Given the description of an element on the screen output the (x, y) to click on. 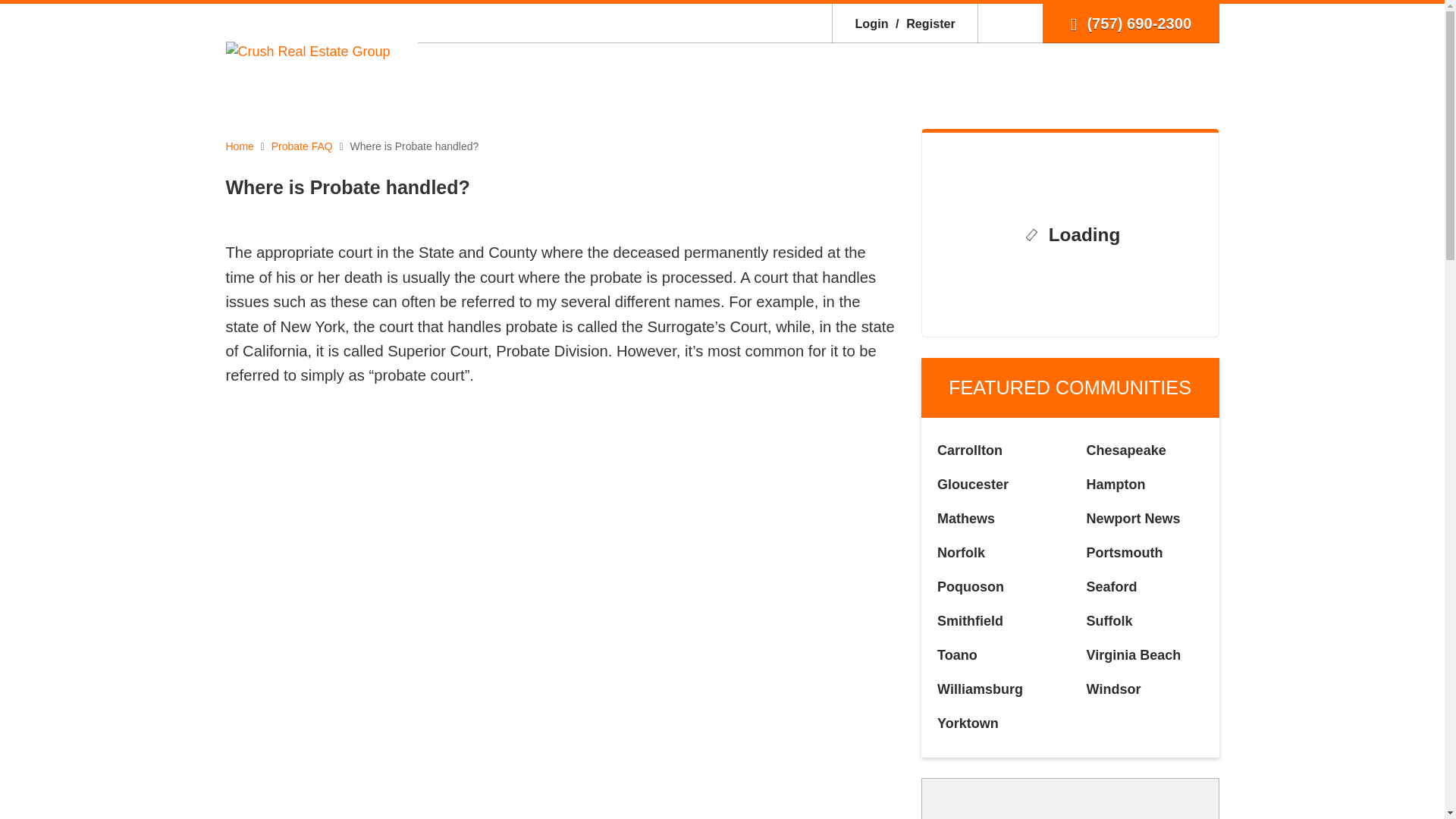
Register (923, 23)
Select Language (1010, 23)
Login (871, 23)
Home Page (307, 50)
